Given the description of an element on the screen output the (x, y) to click on. 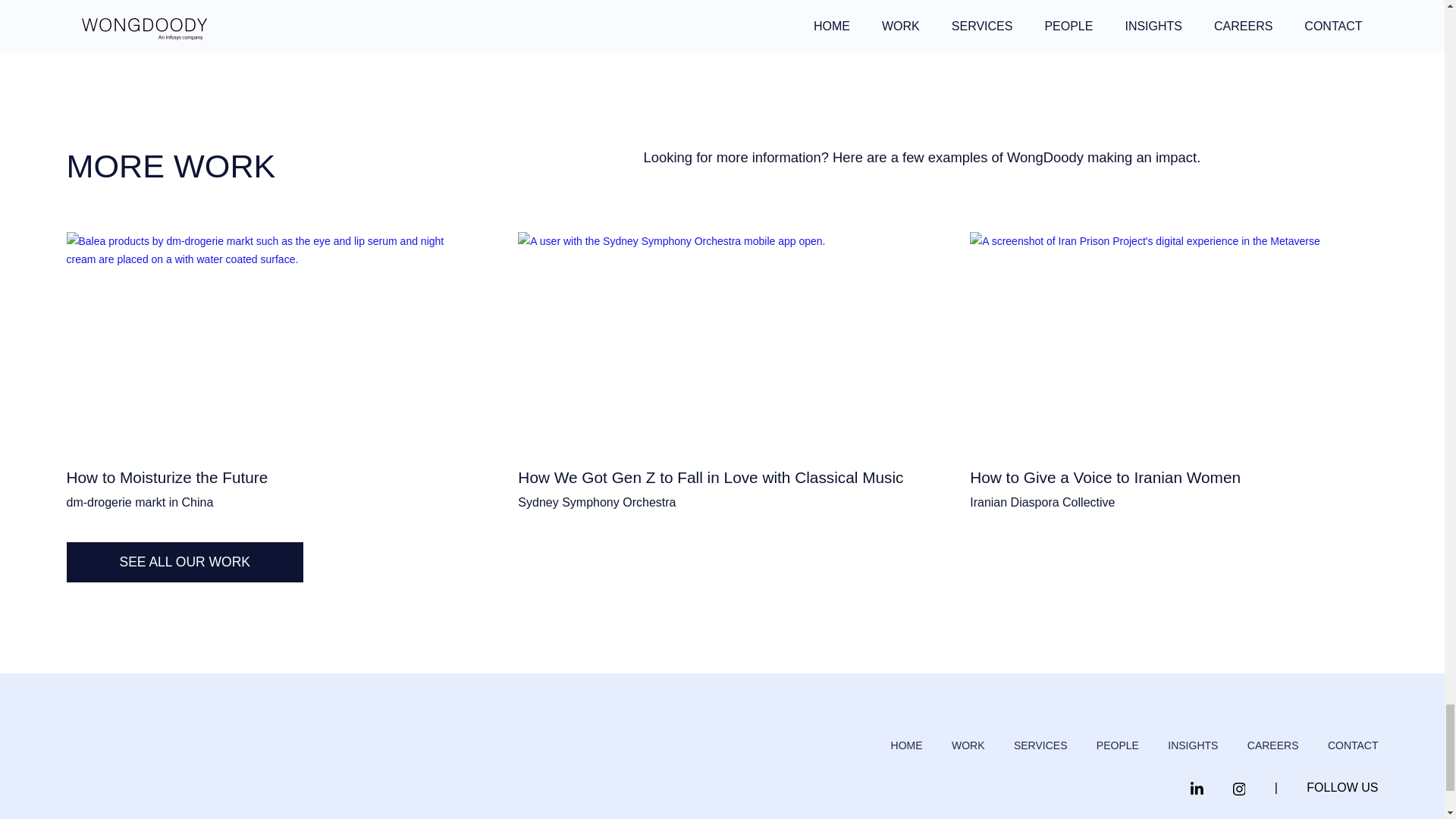
WORK (968, 745)
CAREERS (1272, 745)
How to Give a Voice to Iranian Women (1173, 359)
INSIGHTS (1192, 745)
SERVICES (1040, 745)
PEOPLE (1117, 745)
How to Moisturize the Future (270, 359)
CONTACT (1352, 745)
How We Got Gen Z to Fall in Love with Classical Music (722, 359)
HOME (907, 745)
